Given the description of an element on the screen output the (x, y) to click on. 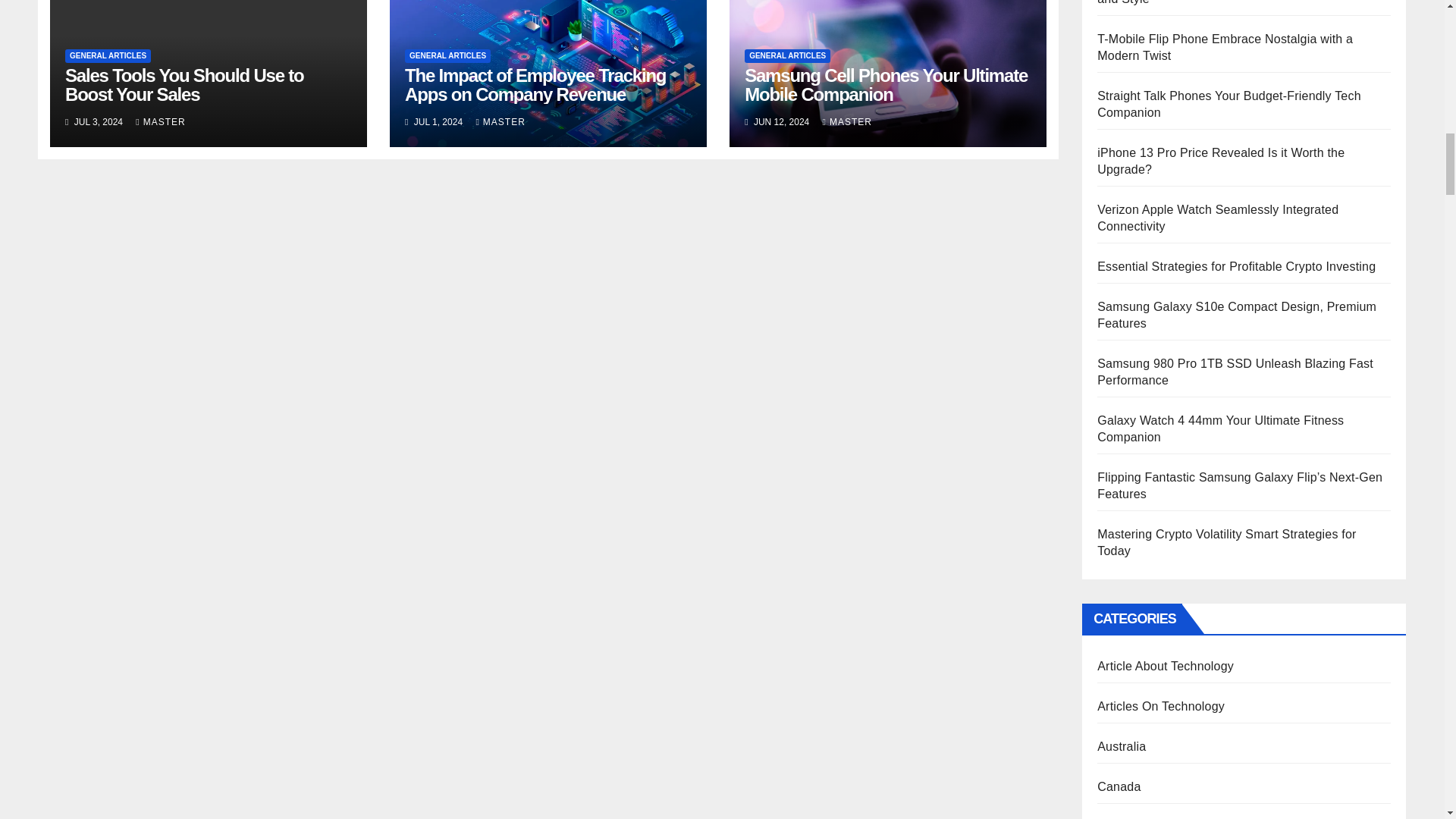
Sales Tools You Should Use to Boost Your Sales (184, 84)
Permalink to: Sales Tools You Should Use to Boost Your Sales (184, 84)
MASTER (159, 122)
GENERAL ARTICLES (108, 56)
